Given the description of an element on the screen output the (x, y) to click on. 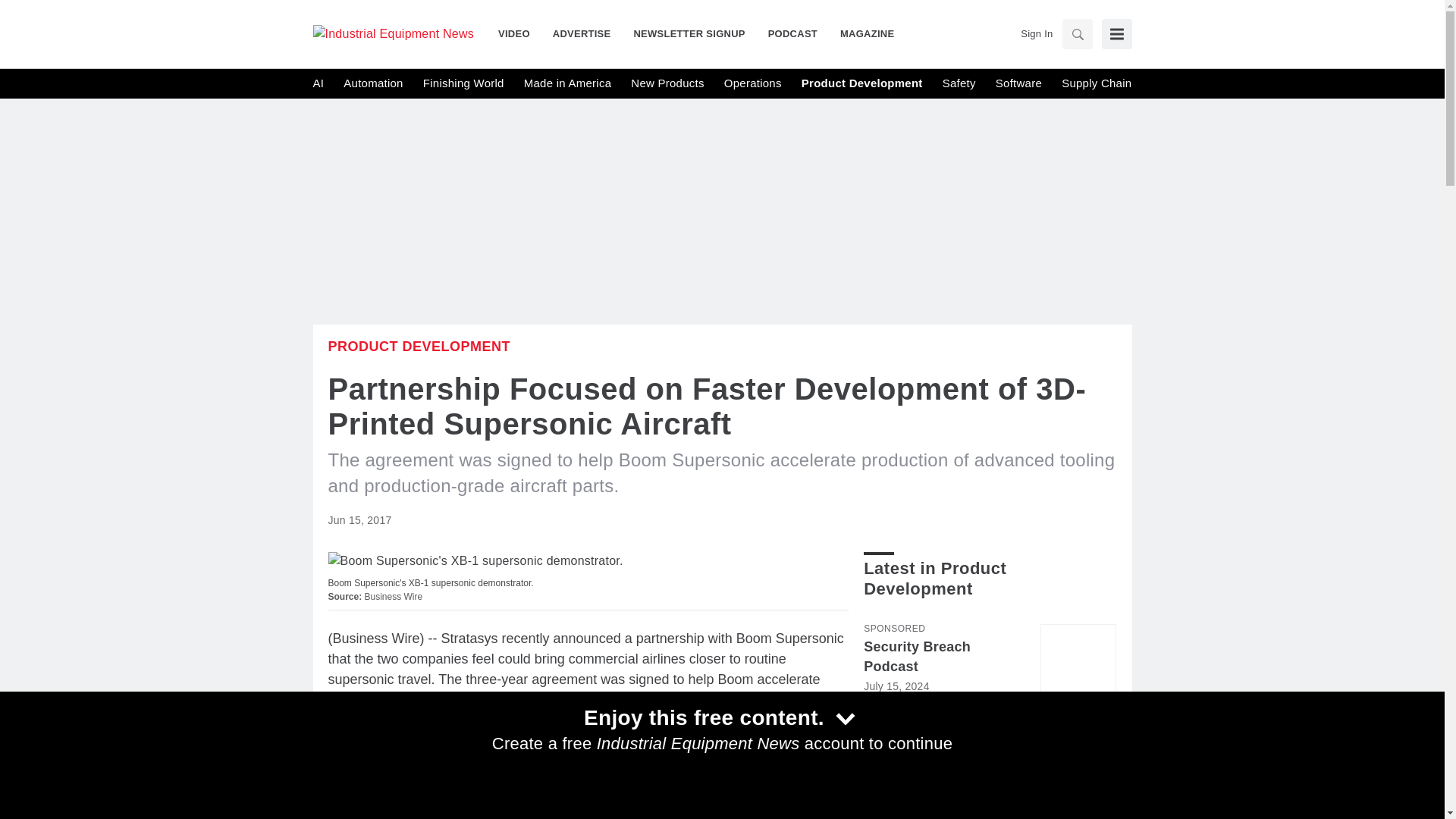
Automation (373, 83)
New Products (666, 83)
Sponsored (893, 628)
Software (1018, 83)
PODCAST (792, 33)
MAGAZINE (860, 33)
Finishing World (463, 83)
NEWSLETTER SIGNUP (688, 33)
VIDEO (519, 33)
Supply Chain (1096, 83)
Product Development (419, 345)
AI (318, 83)
Sign In (1036, 33)
Product Development (862, 83)
Made in America (567, 83)
